Given the description of an element on the screen output the (x, y) to click on. 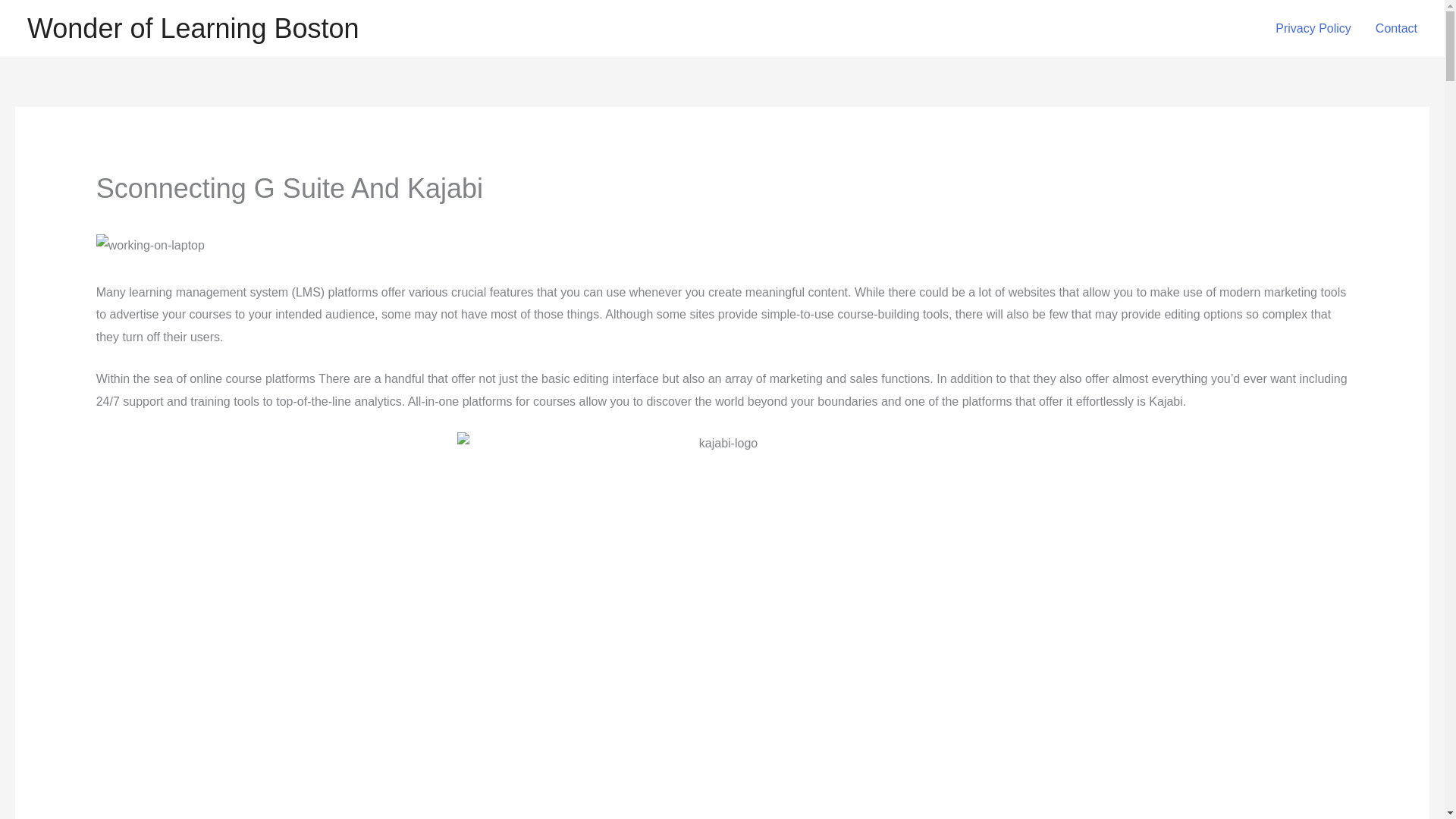
Wonder of Learning Boston (193, 28)
YouTube video player (308, 775)
Contact (1395, 28)
Privacy Policy (1312, 28)
